Given the description of an element on the screen output the (x, y) to click on. 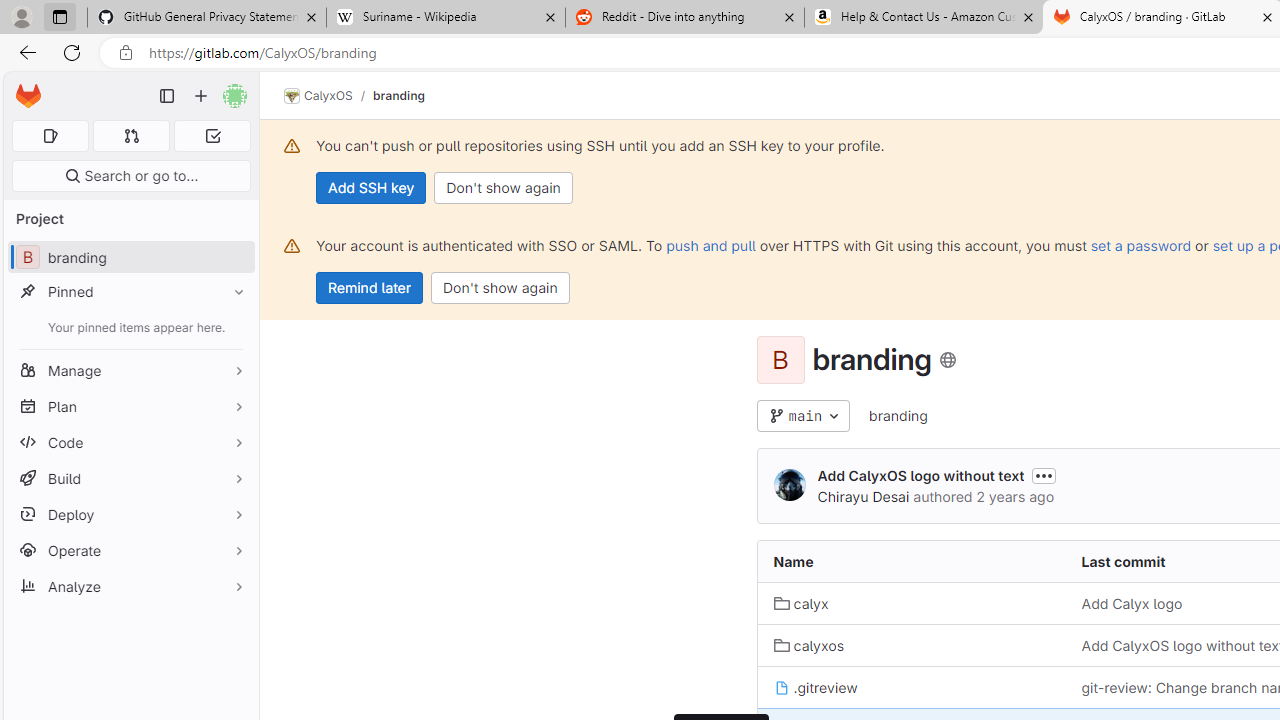
Manage (130, 370)
branding (898, 415)
branding (898, 416)
main (803, 416)
calyx (911, 602)
Remind later (369, 287)
B branding (130, 257)
Don't show again (500, 287)
Help & Contact Us - Amazon Customer Service (924, 17)
CalyxOS (318, 96)
CalyxOS/ (328, 96)
Primary navigation sidebar (167, 96)
Class: s16 position-relative file-icon (781, 687)
